Given the description of an element on the screen output the (x, y) to click on. 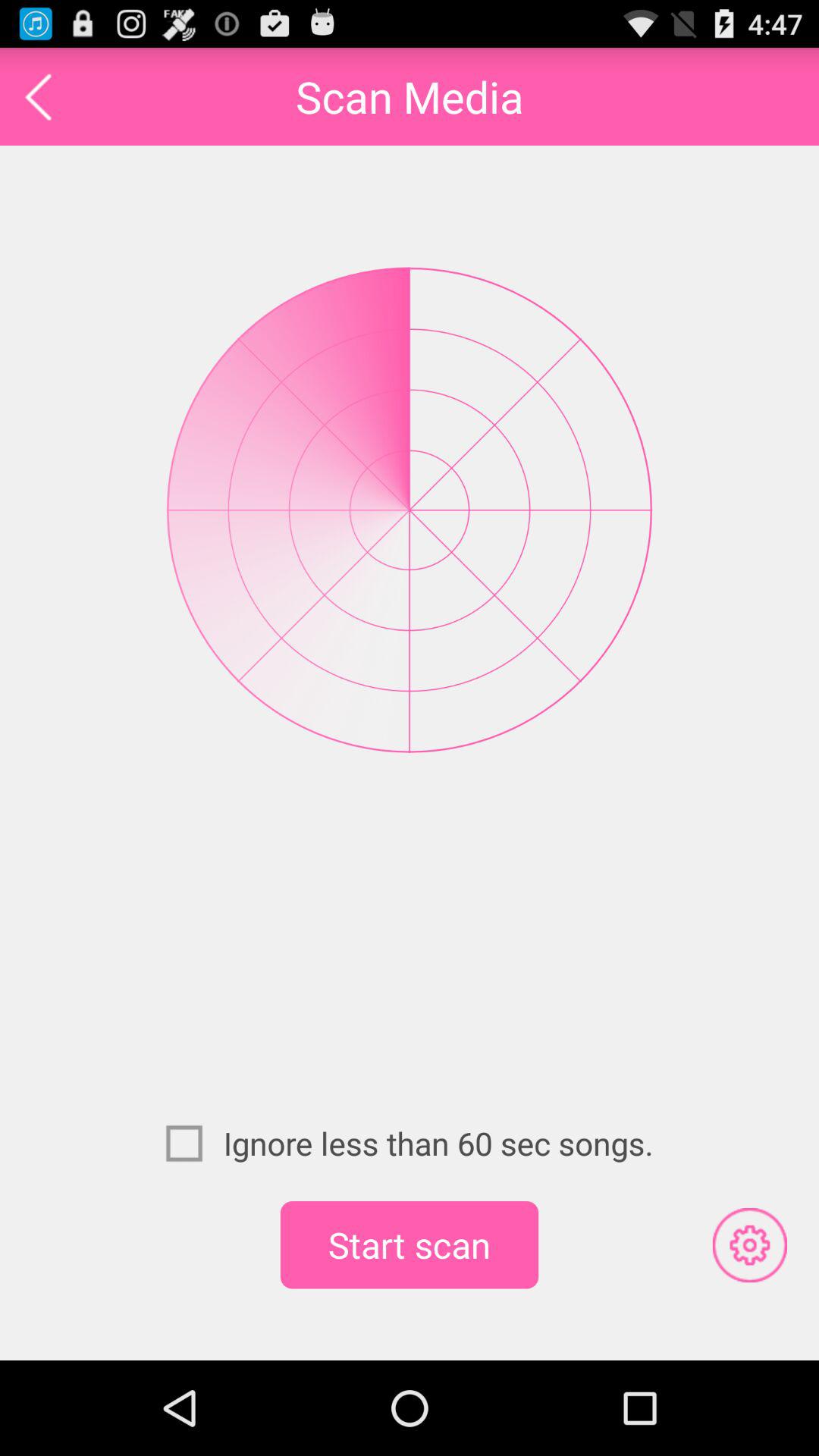
open item to the left of ignore less than icon (193, 1142)
